Given the description of an element on the screen output the (x, y) to click on. 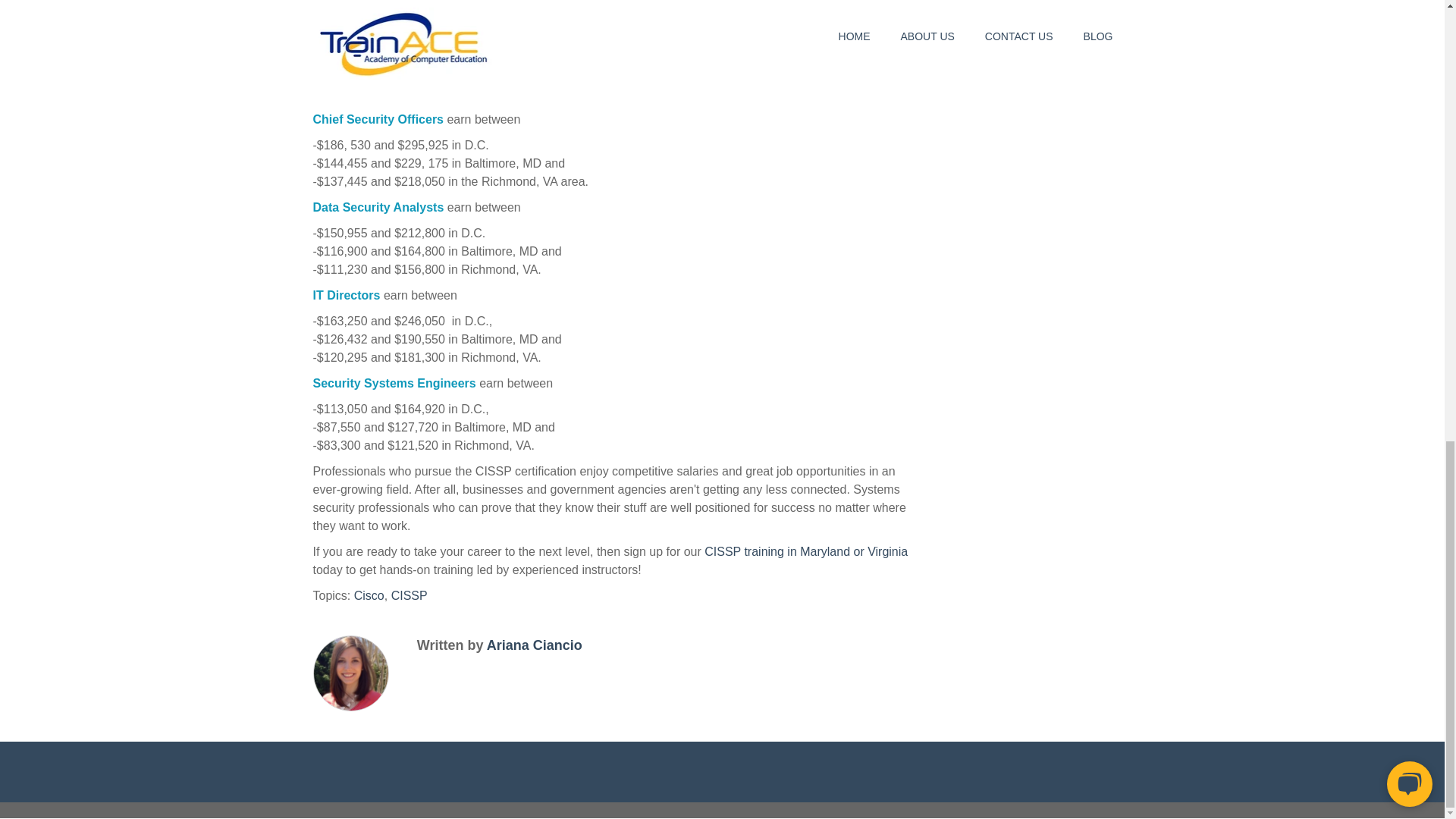
Cisco (368, 594)
CISSP (409, 594)
Ariana Ciancio (534, 644)
CISSP training in Maryland or Virginia (805, 550)
